Given the description of an element on the screen output the (x, y) to click on. 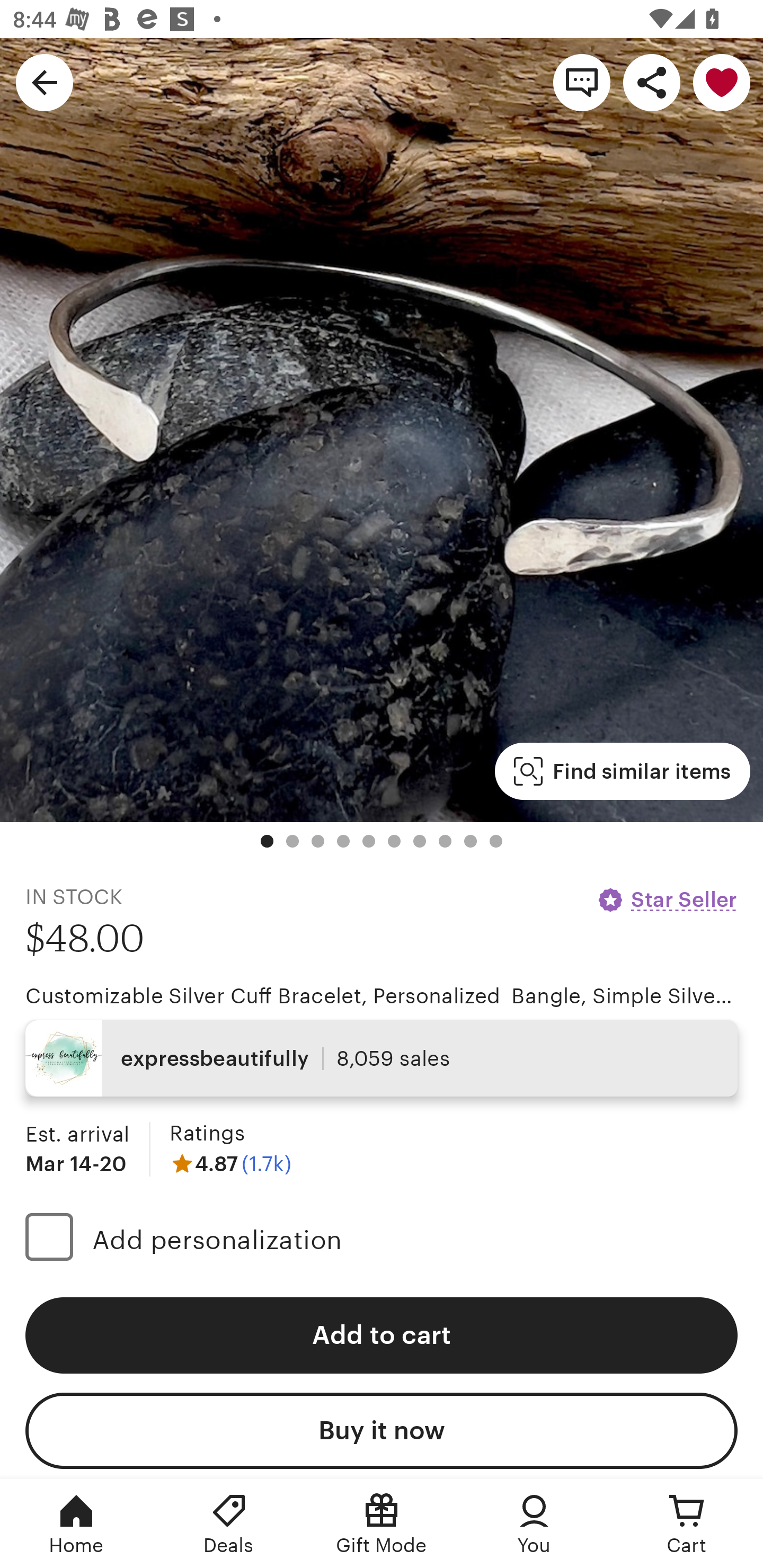
Navigate up (44, 81)
Contact shop (581, 81)
Share (651, 81)
Find similar items (622, 771)
Star Seller (666, 899)
expressbeautifully 8,059 sales (381, 1058)
Ratings (206, 1133)
4.87 (1.7k) (230, 1163)
Add personalization (optional) Add personalization (381, 1239)
Add to cart (381, 1334)
Buy it now (381, 1430)
Deals (228, 1523)
Gift Mode (381, 1523)
You (533, 1523)
Cart (686, 1523)
